Given the description of an element on the screen output the (x, y) to click on. 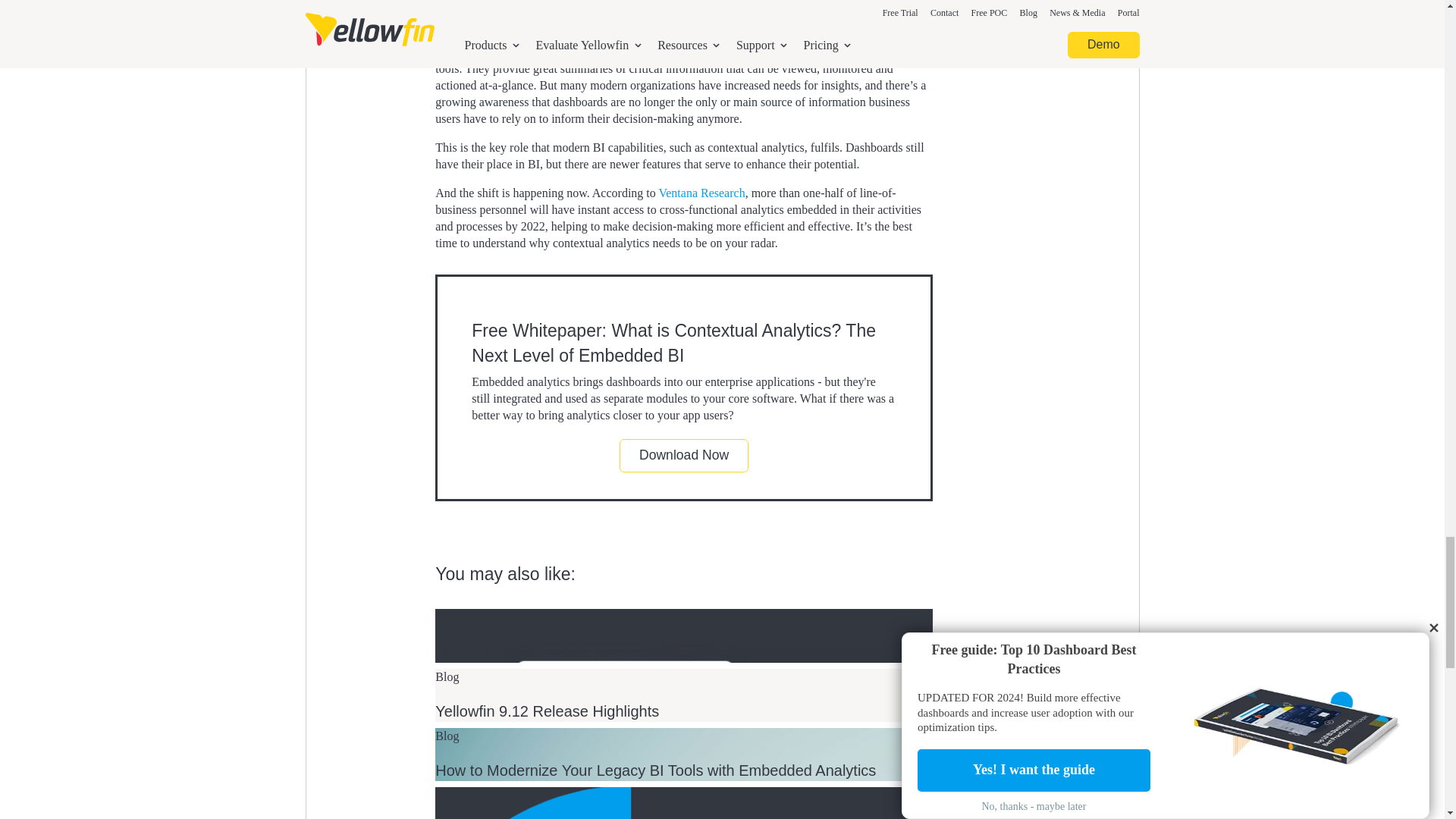
Yellowfin what is contextual analytics whitepaper download (684, 455)
